Given the description of an element on the screen output the (x, y) to click on. 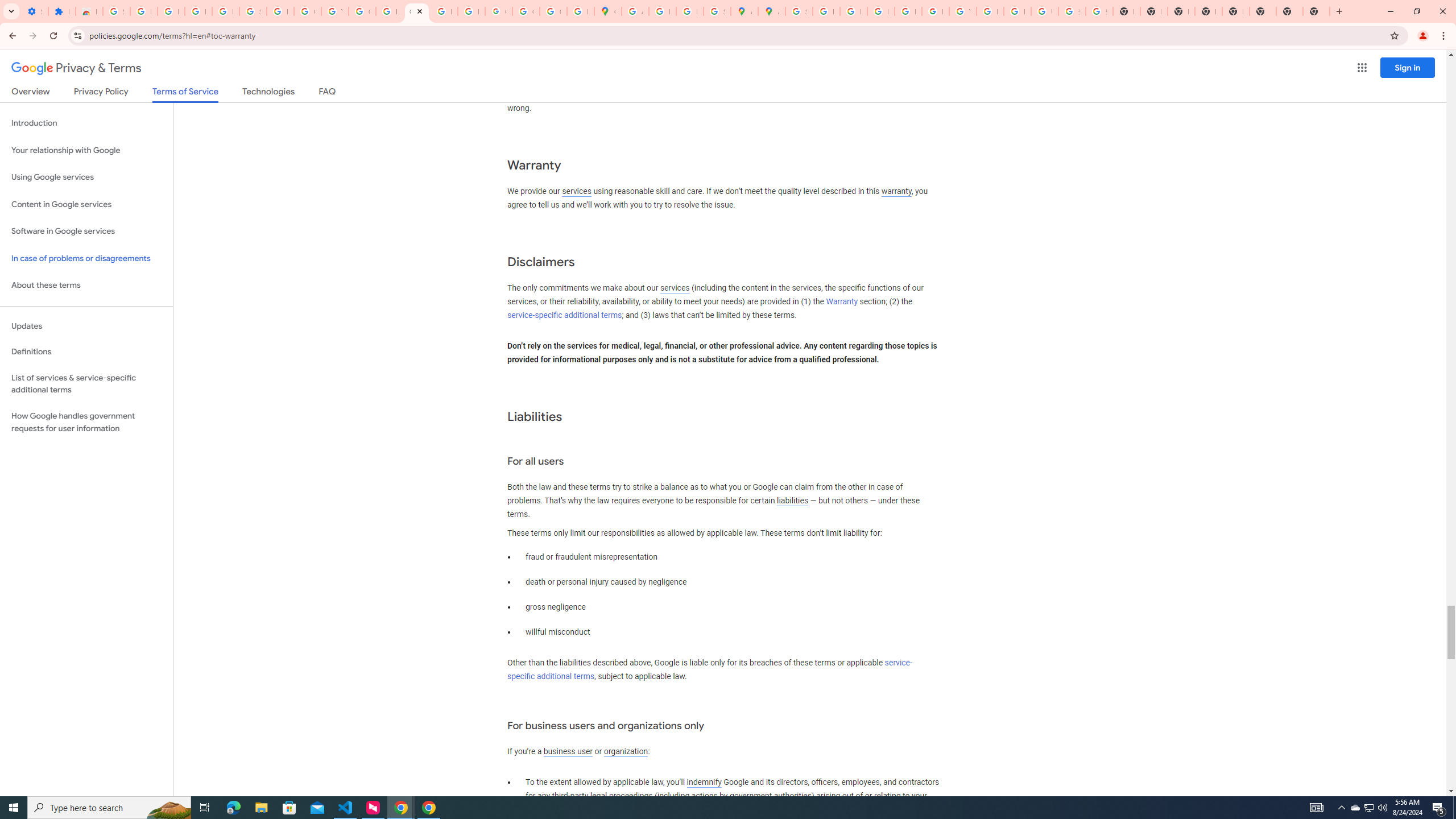
Google Account (307, 11)
Terms of Service (184, 94)
service-specific additional terms (709, 669)
Sign in - Google Accounts (253, 11)
Updates (86, 325)
services (674, 288)
https://scholar.google.com/ (389, 11)
liabilities (792, 500)
Sign in - Google Accounts (799, 11)
FAQ (327, 93)
New Tab (1289, 11)
